Given the description of an element on the screen output the (x, y) to click on. 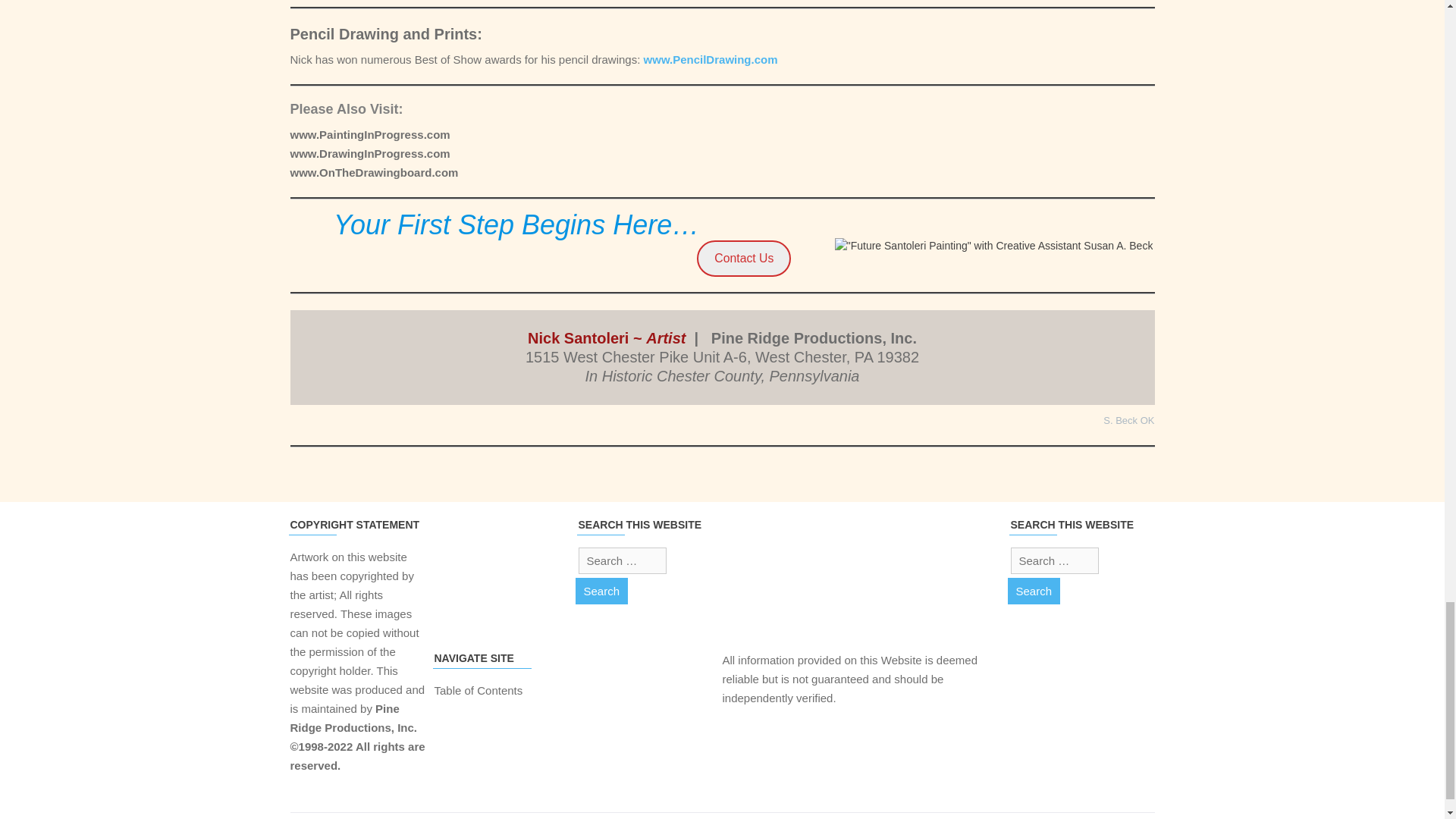
Search (601, 591)
Search (1033, 591)
Drawing in Progress (369, 153)
Painting in Progress (370, 133)
Search (601, 591)
Search (1033, 591)
